Given the description of an element on the screen output the (x, y) to click on. 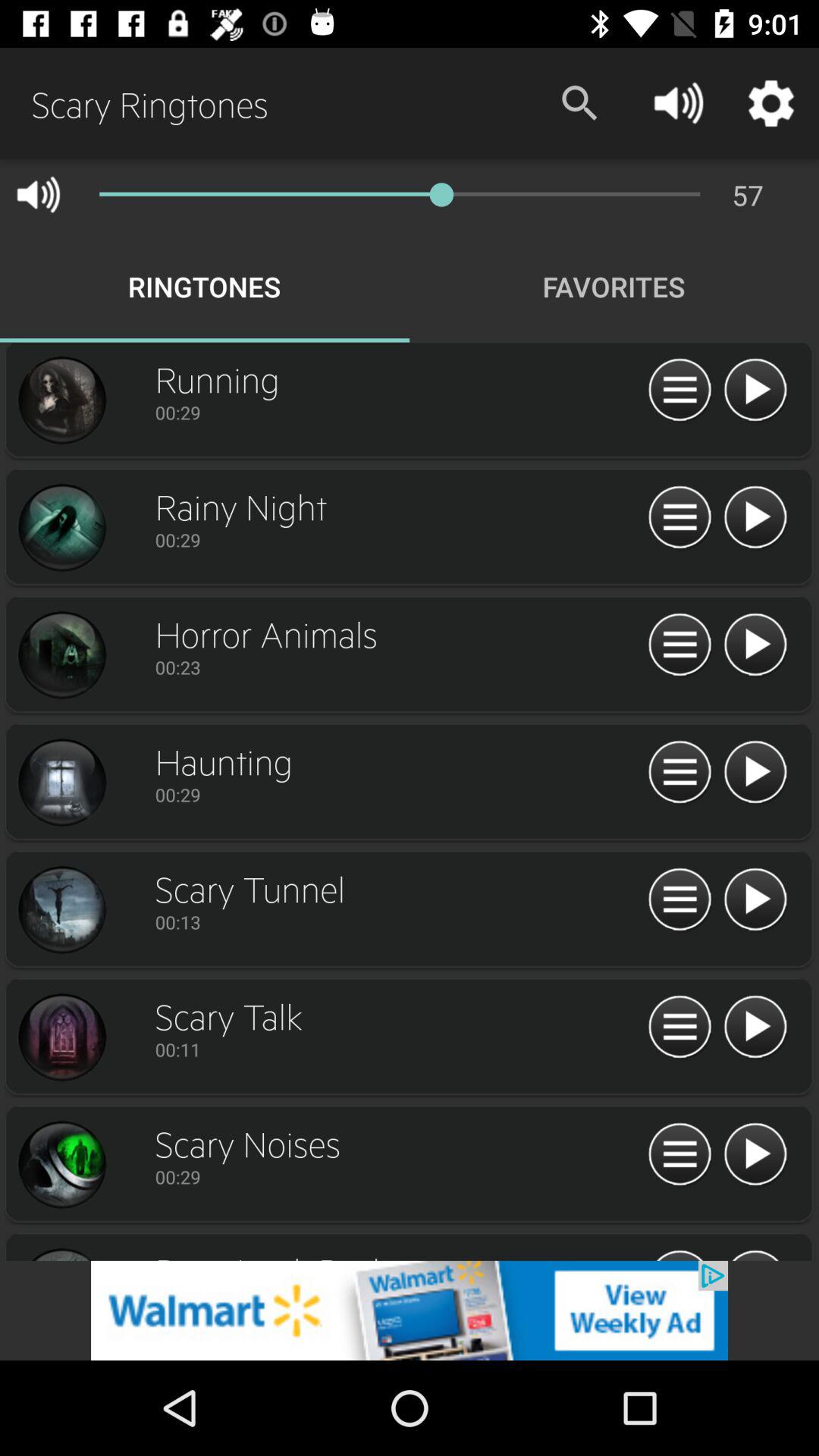
play a playlist (755, 1154)
